Given the description of an element on the screen output the (x, y) to click on. 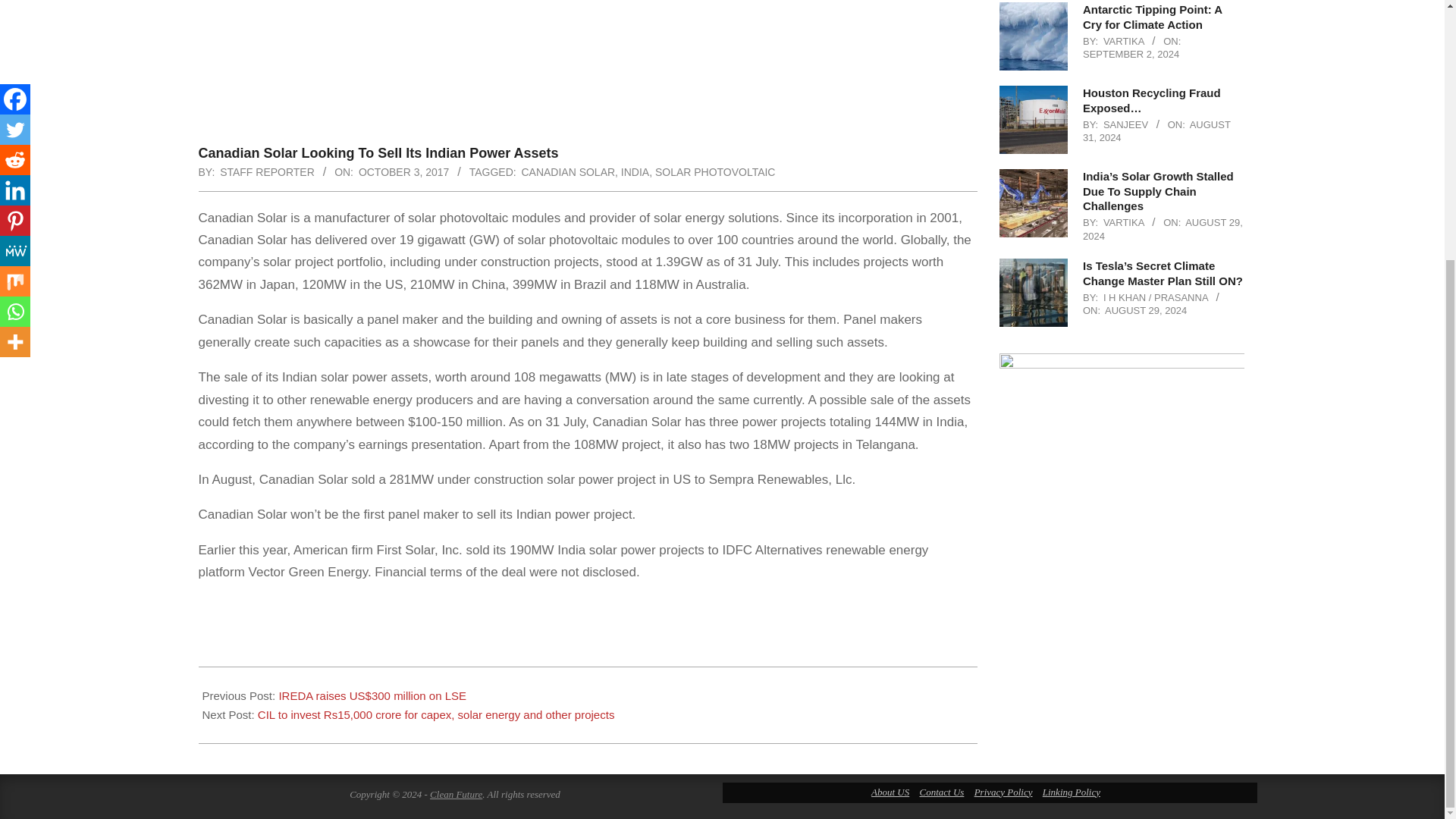
Posts by Vartika (1123, 41)
SOLAR PHOTOVOLTAIC (715, 172)
CANADIAN SOLAR (568, 172)
Posts by Sanjeev (1125, 124)
Posts by Vartika (1123, 222)
Tuesday, October 3, 2017, 5:44 pm (403, 172)
Saturday, August 31, 2024, 2:30 pm (1156, 131)
Monday, September 2, 2024, 10:23 am (1131, 53)
INDIA (635, 172)
Posts by Staff Reporter (266, 172)
